Given the description of an element on the screen output the (x, y) to click on. 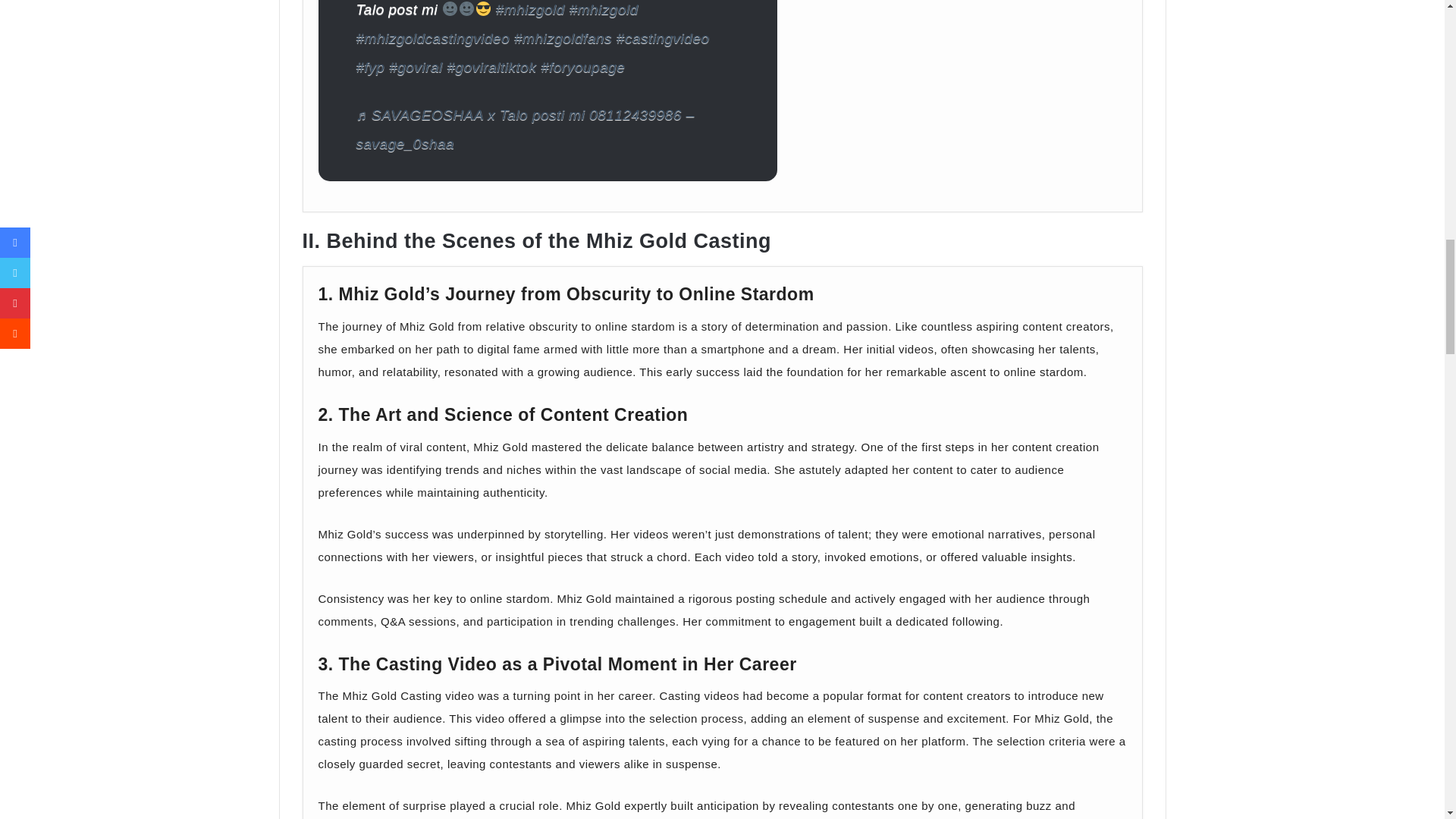
mhizgoldcastingvideo (433, 37)
mhizgold (530, 9)
fyp (370, 66)
mhizgold (604, 9)
mhizgoldfans (562, 37)
castingvideo (662, 37)
